Given the description of an element on the screen output the (x, y) to click on. 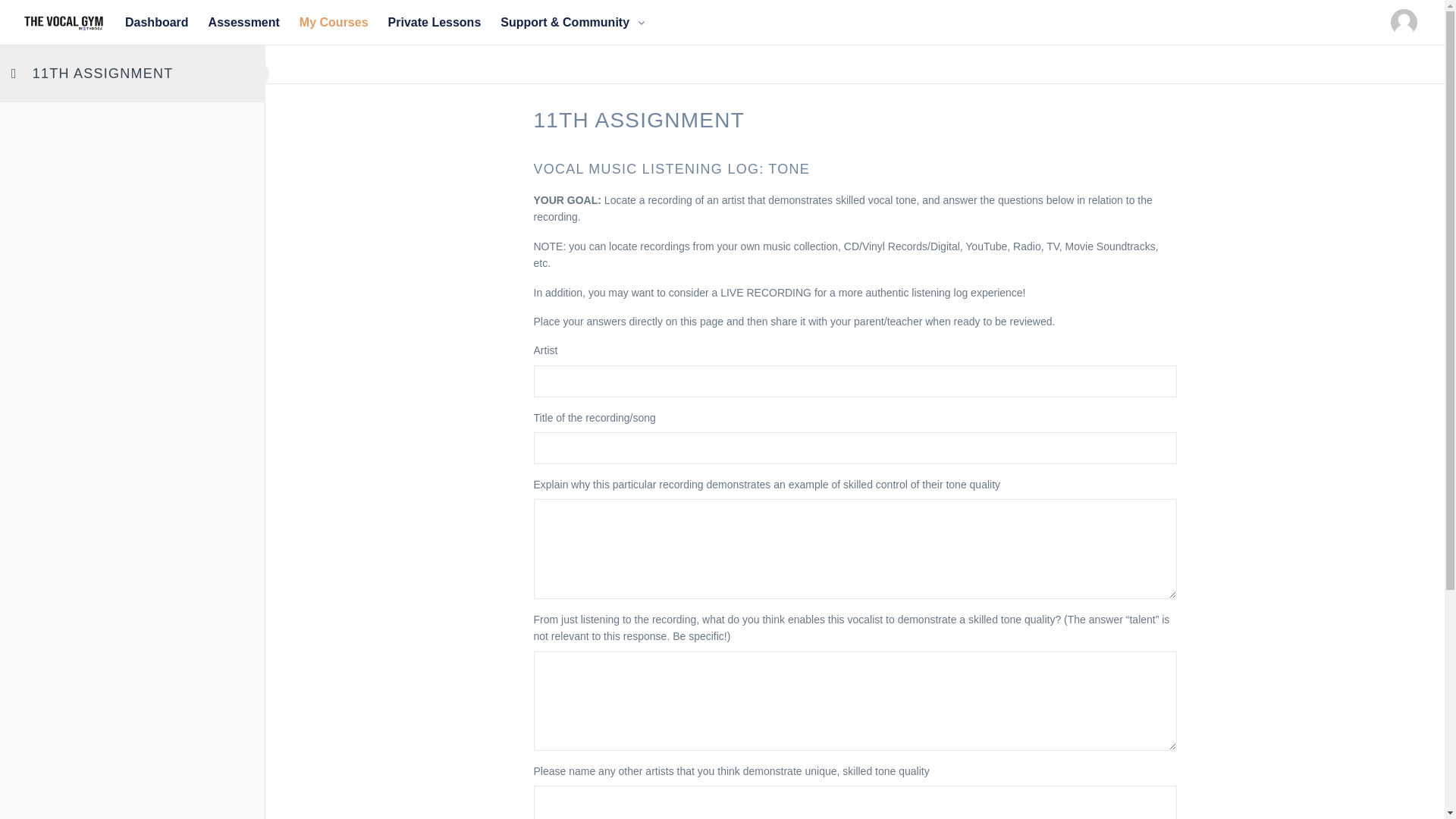
Assessment (243, 22)
My Courses (333, 22)
Private Lessons (435, 22)
11TH ASSIGNMENT (102, 73)
Dashboard (156, 22)
